Given the description of an element on the screen output the (x, y) to click on. 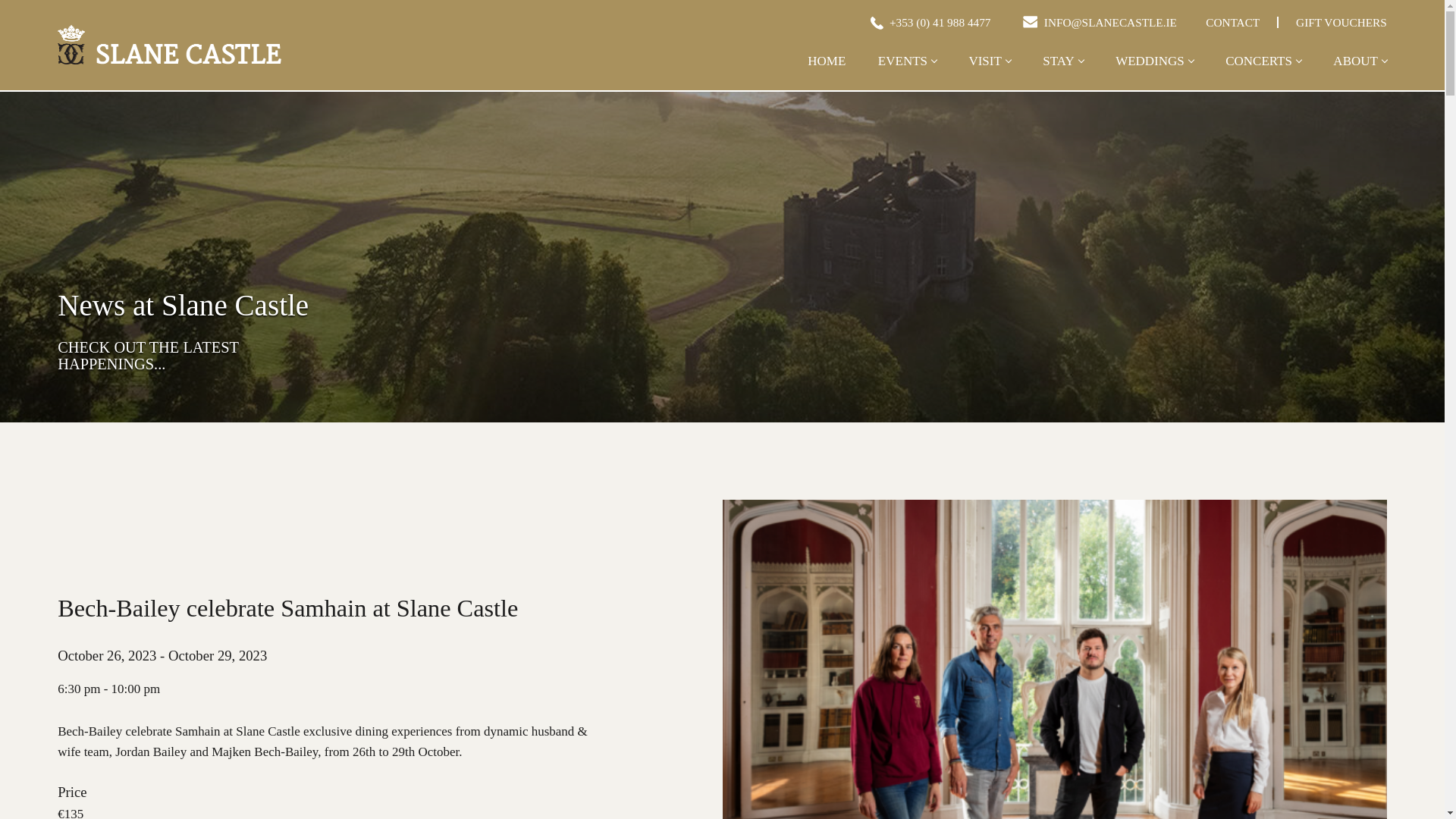
PHONE (875, 21)
STAY (1062, 72)
EVENTS (906, 72)
EMAIL (1030, 21)
VISIT (989, 72)
WEDDINGS (1154, 72)
ABOUT (1359, 72)
CONCERTS (1263, 72)
HOME (826, 72)
Bech-Bailey celebrate Samhain at Slane Castle (169, 44)
